Given the description of an element on the screen output the (x, y) to click on. 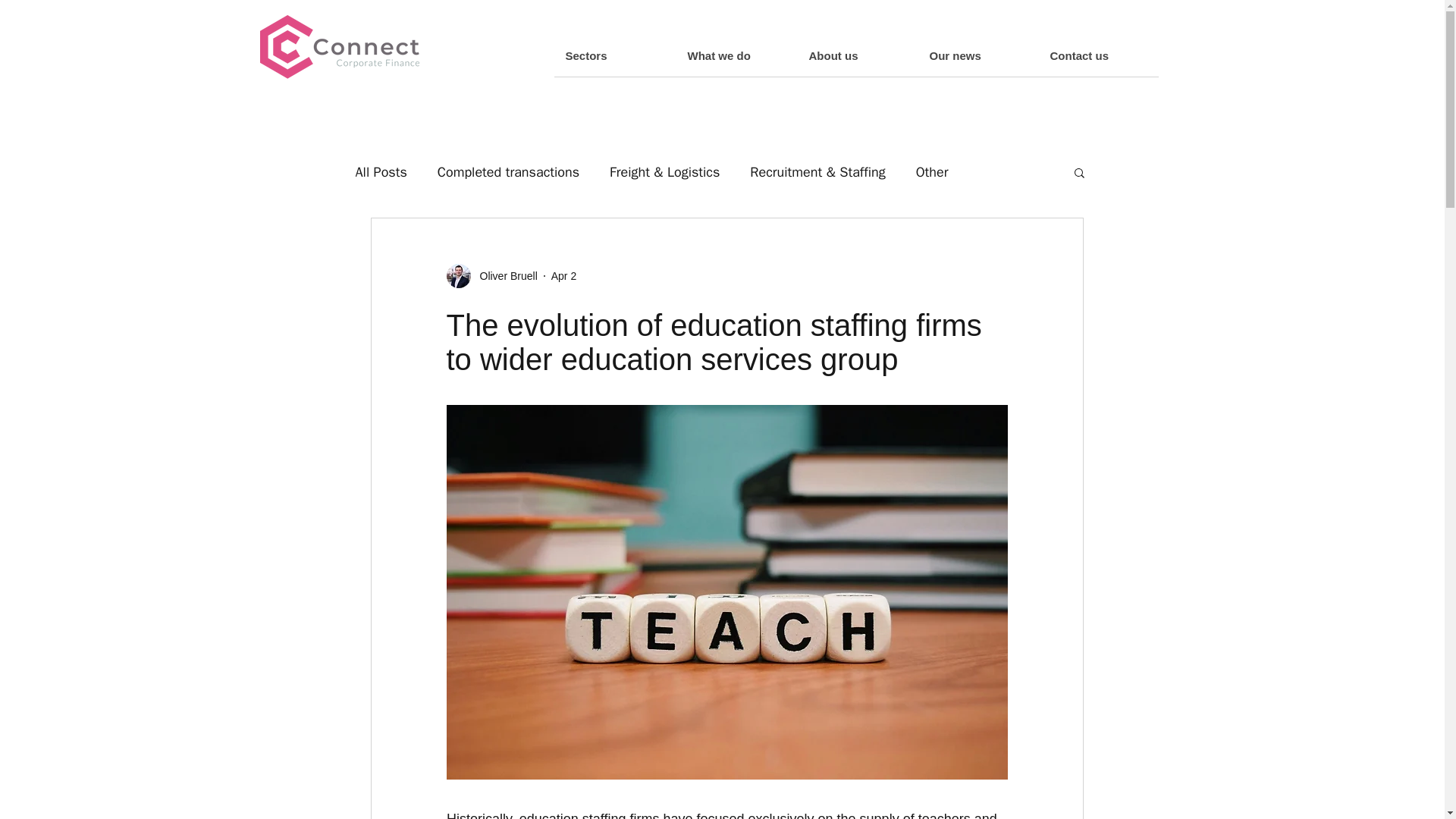
Contact us (1096, 55)
Other (932, 171)
What we do (735, 55)
About us (856, 55)
Sectors (614, 55)
Oliver Bruell (503, 276)
All Posts (380, 171)
Our news (977, 55)
Apr 2 (563, 275)
Completed transactions (508, 171)
